Given the description of an element on the screen output the (x, y) to click on. 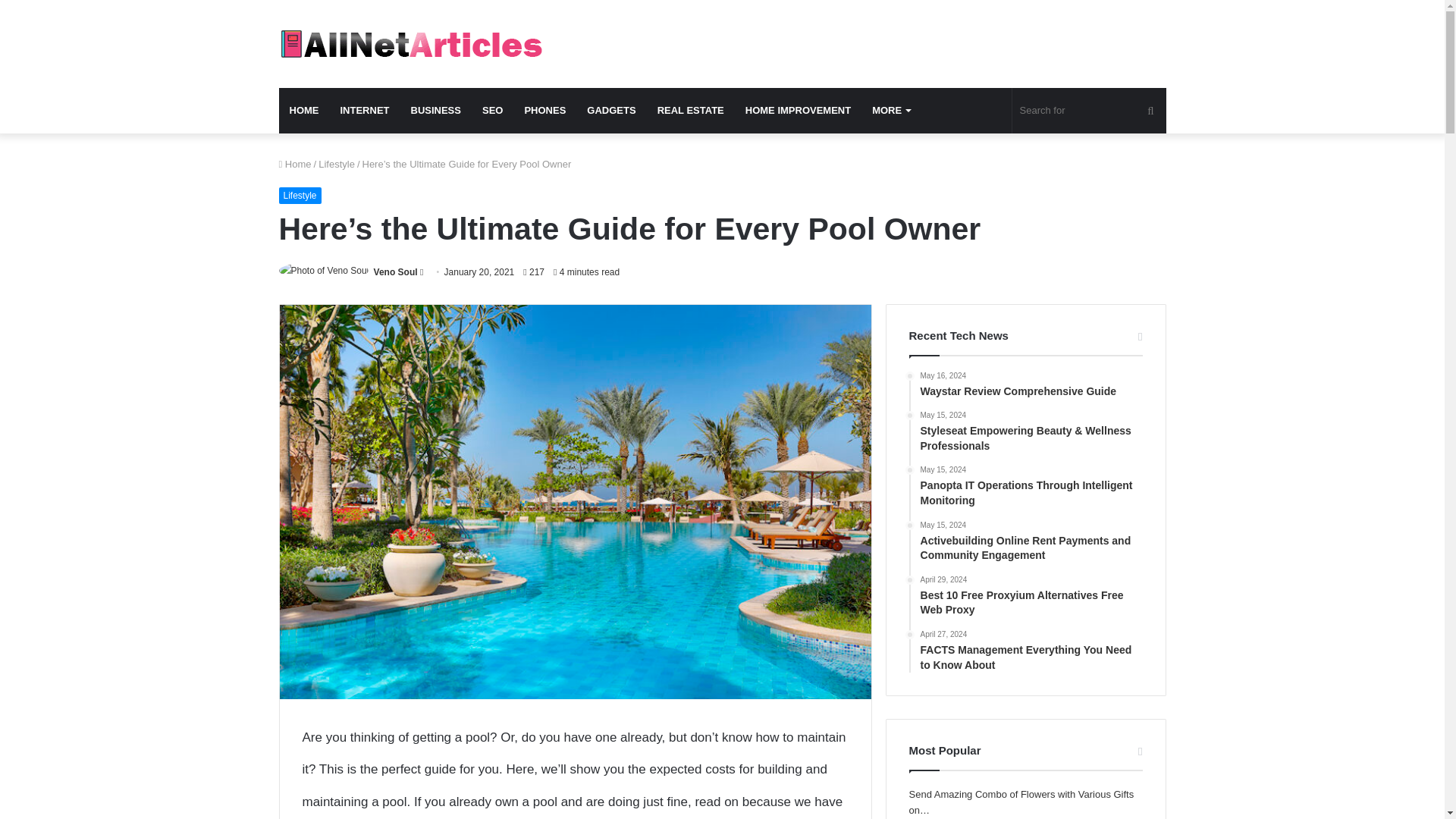
Home (295, 163)
SEO (492, 110)
PHONES (544, 110)
Lifestyle (336, 163)
HOME (304, 110)
MORE (890, 110)
GADGETS (611, 110)
AllNetArticles (410, 43)
Veno Soul (395, 271)
Lifestyle (300, 195)
INTERNET (363, 110)
REAL ESTATE (690, 110)
Veno Soul (395, 271)
BUSINESS (435, 110)
Search for (1088, 110)
